Given the description of an element on the screen output the (x, y) to click on. 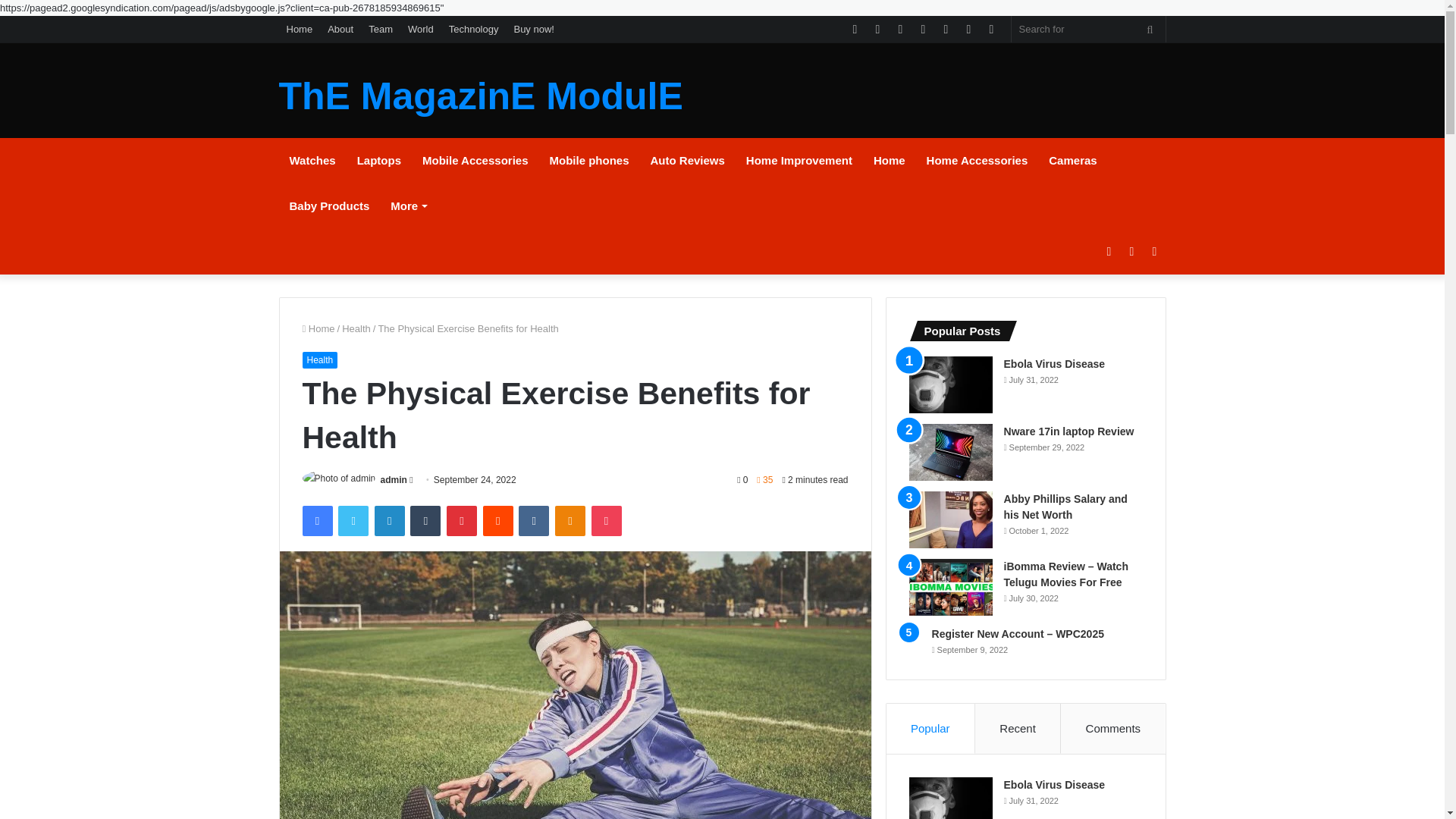
Search for (1088, 28)
ThE MagazinE ModulE (480, 95)
Mobile phones (588, 160)
LinkedIn (389, 521)
Home (889, 160)
Buy now! (532, 28)
Tumblr (425, 521)
admin (393, 480)
ThE MagazinE ModulE (480, 95)
Home Improvement (799, 160)
Laptops (379, 160)
Search for (1150, 28)
Home Accessories (977, 160)
Technology (473, 28)
More (408, 206)
